Given the description of an element on the screen output the (x, y) to click on. 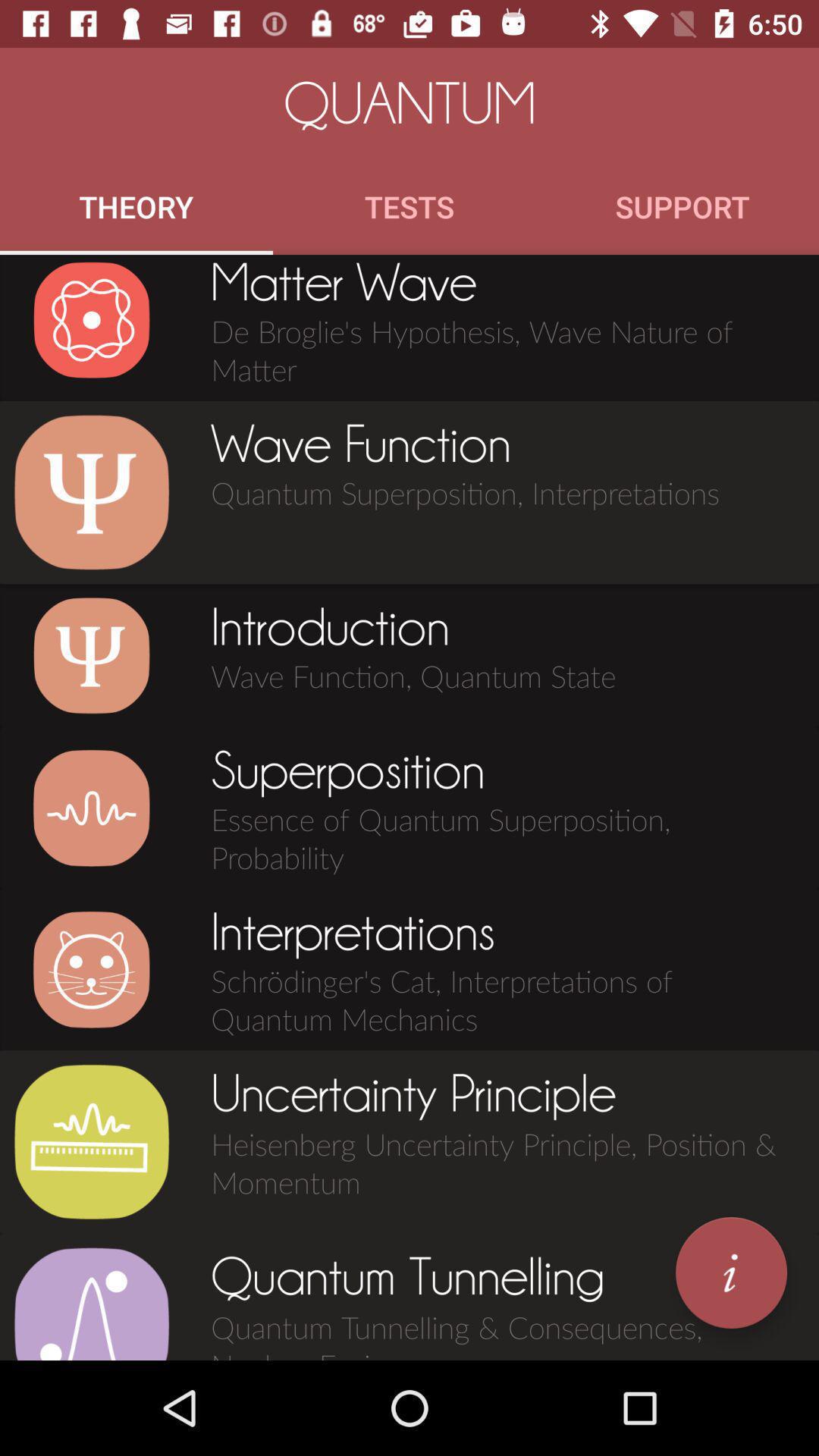
select icon next to the quantum tunnelling icon (731, 1272)
